Given the description of an element on the screen output the (x, y) to click on. 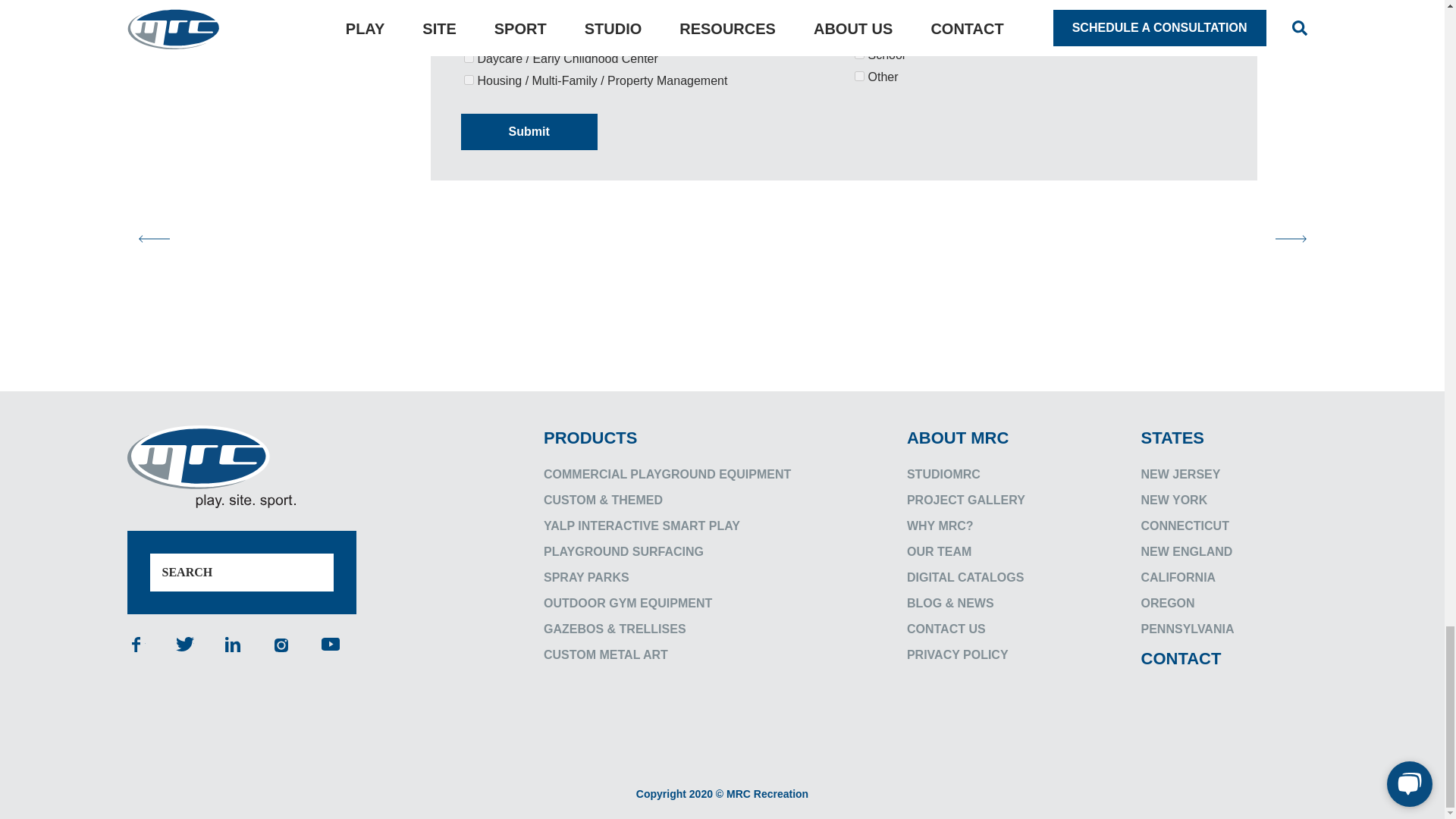
Schools (858, 53)
Housing (469, 80)
College (469, 13)
Submit (528, 131)
MRC Recreation (211, 466)
Contractor (469, 35)
Other (858, 76)
Childcare (469, 58)
Religious (858, 31)
